Given the description of an element on the screen output the (x, y) to click on. 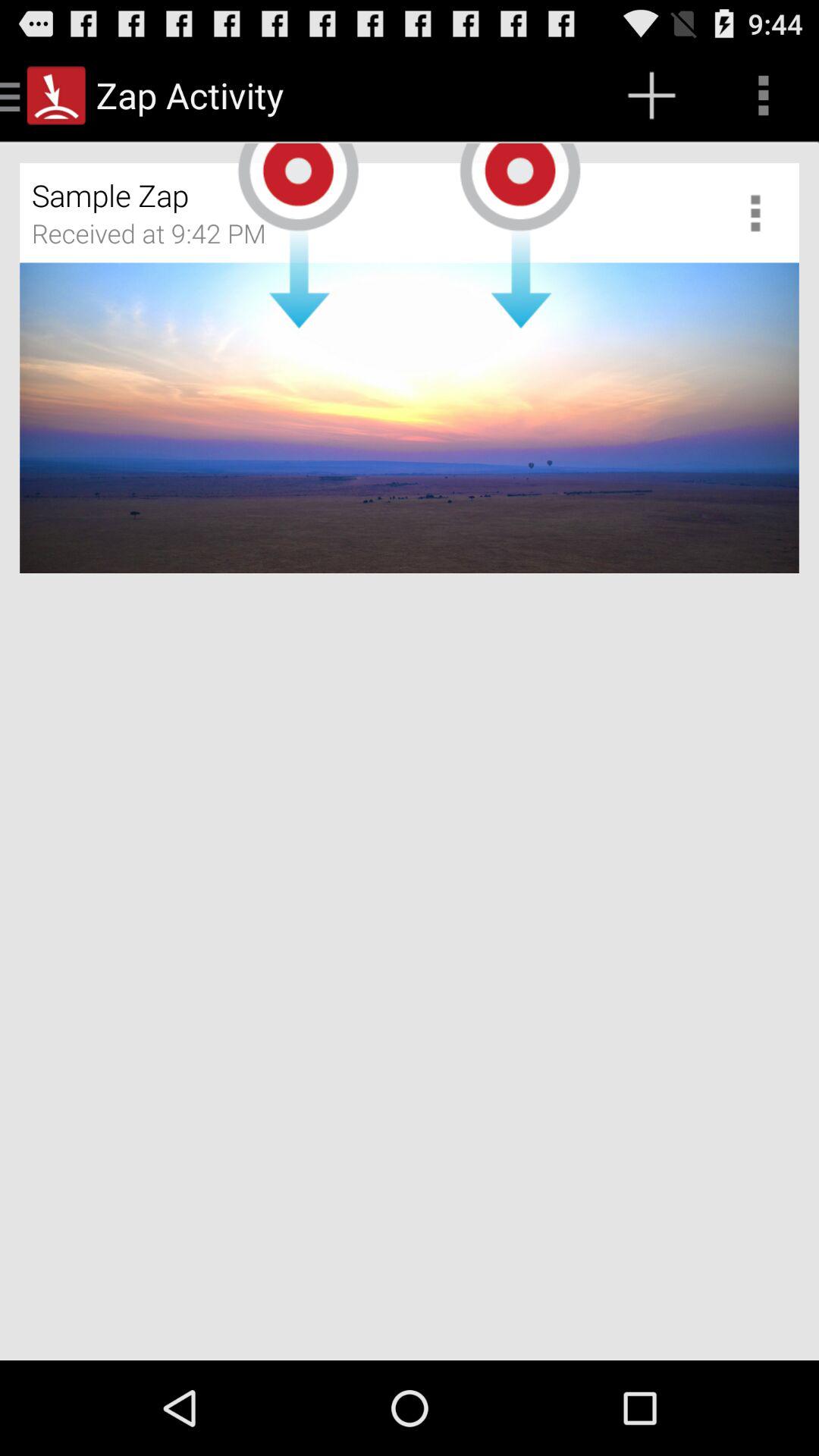
press item above received at 9 icon (320, 189)
